Given the description of an element on the screen output the (x, y) to click on. 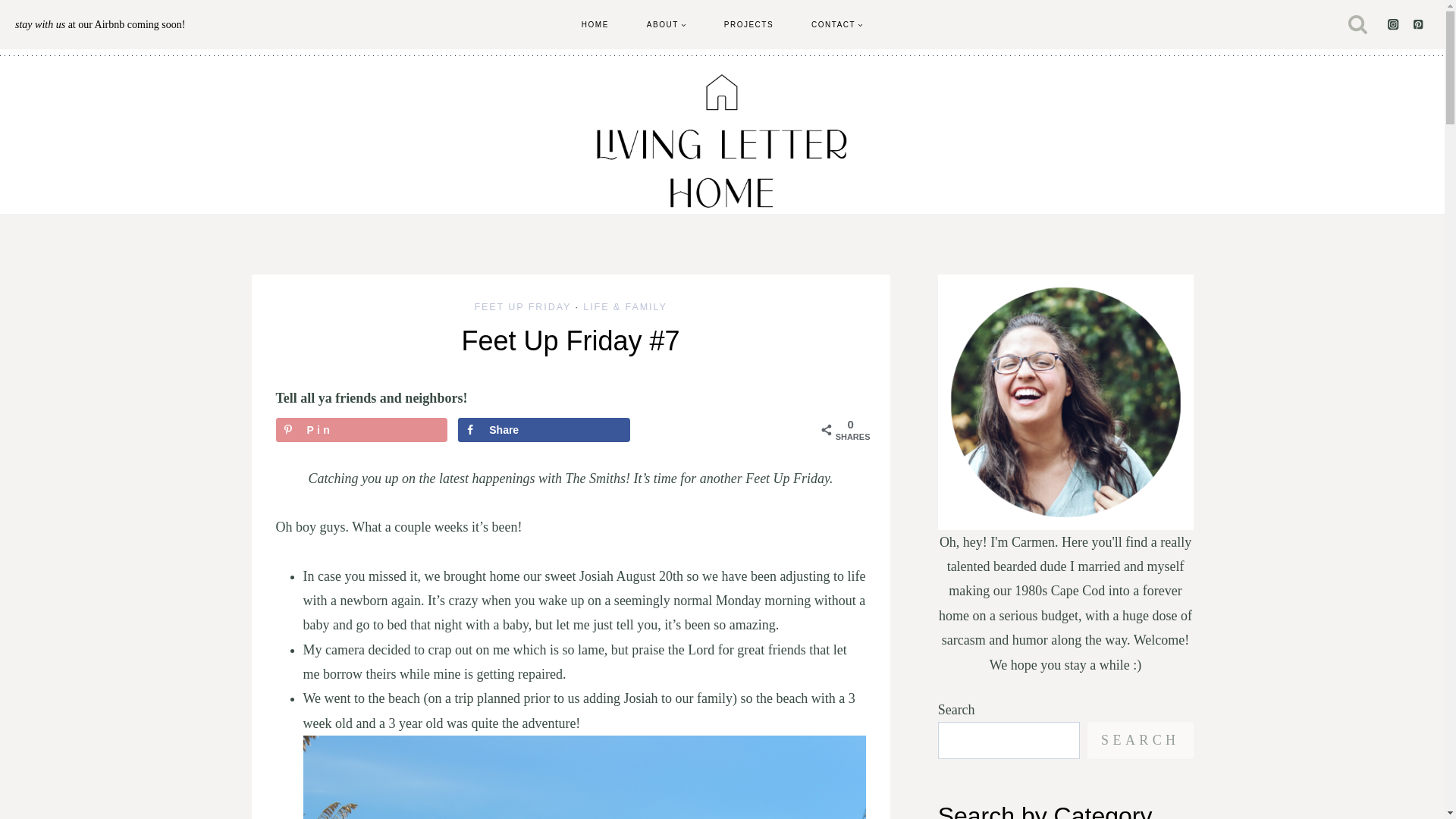
Share (544, 429)
ABOUT (665, 24)
CONTACT (837, 24)
Share on Facebook (544, 429)
FEET UP FRIDAY (522, 307)
Save to Pinterest (362, 429)
Pin (362, 429)
HOME (594, 24)
PROJECTS (748, 24)
